Given the description of an element on the screen output the (x, y) to click on. 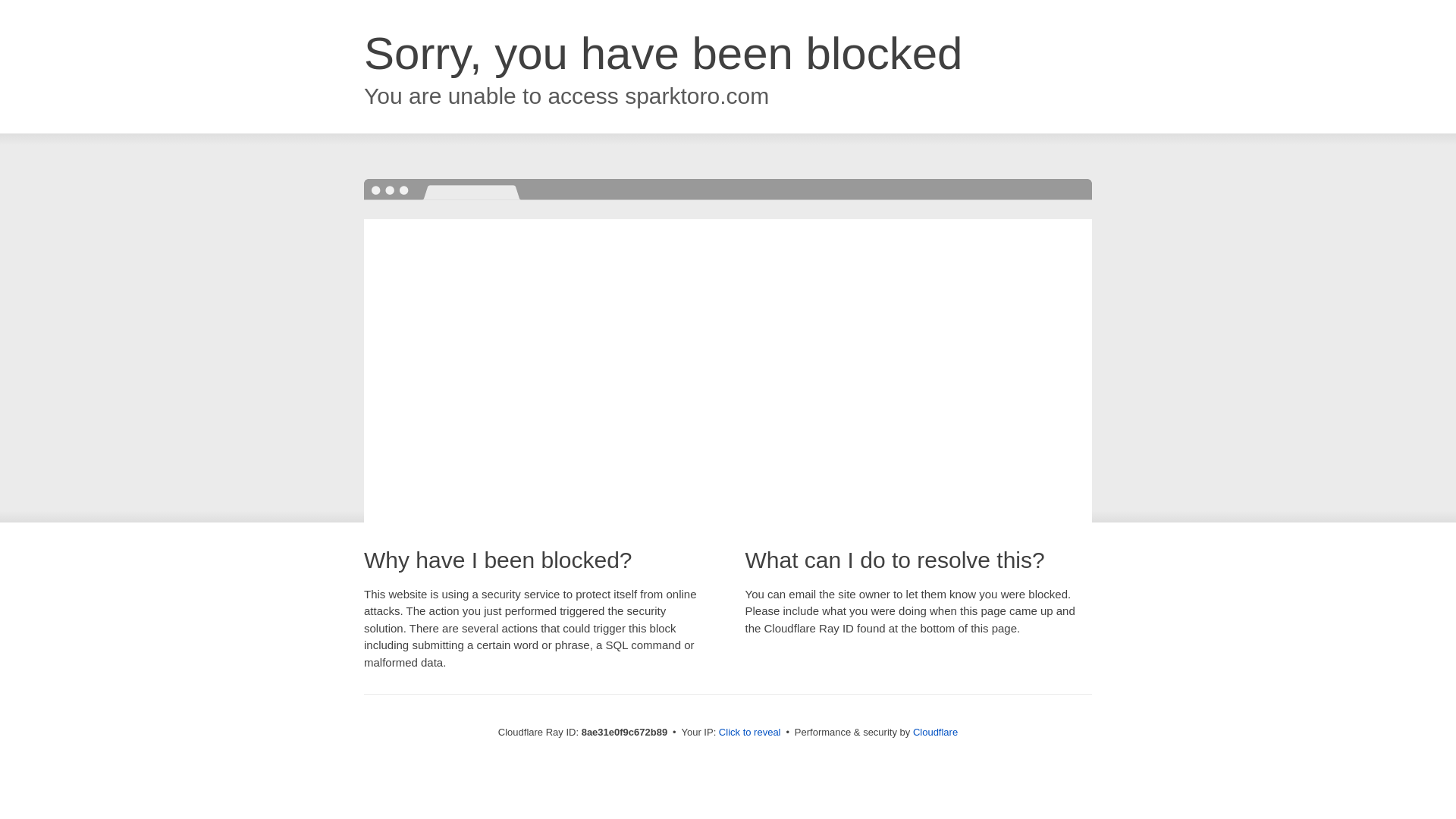
Cloudflare (935, 731)
Click to reveal (749, 732)
